Given the description of an element on the screen output the (x, y) to click on. 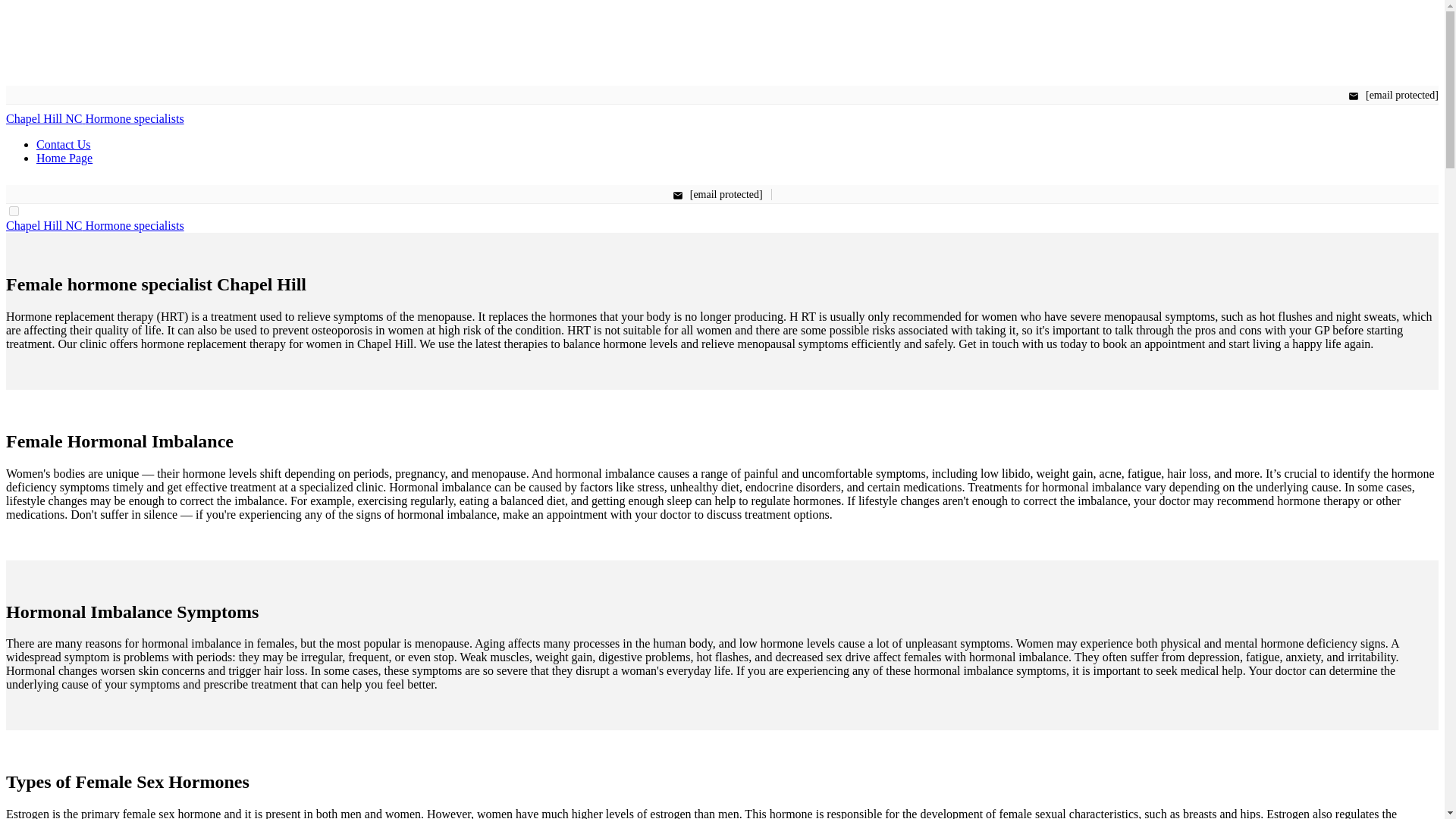
Home Page (64, 157)
on (13, 211)
Contact Us (63, 144)
